Given the description of an element on the screen output the (x, y) to click on. 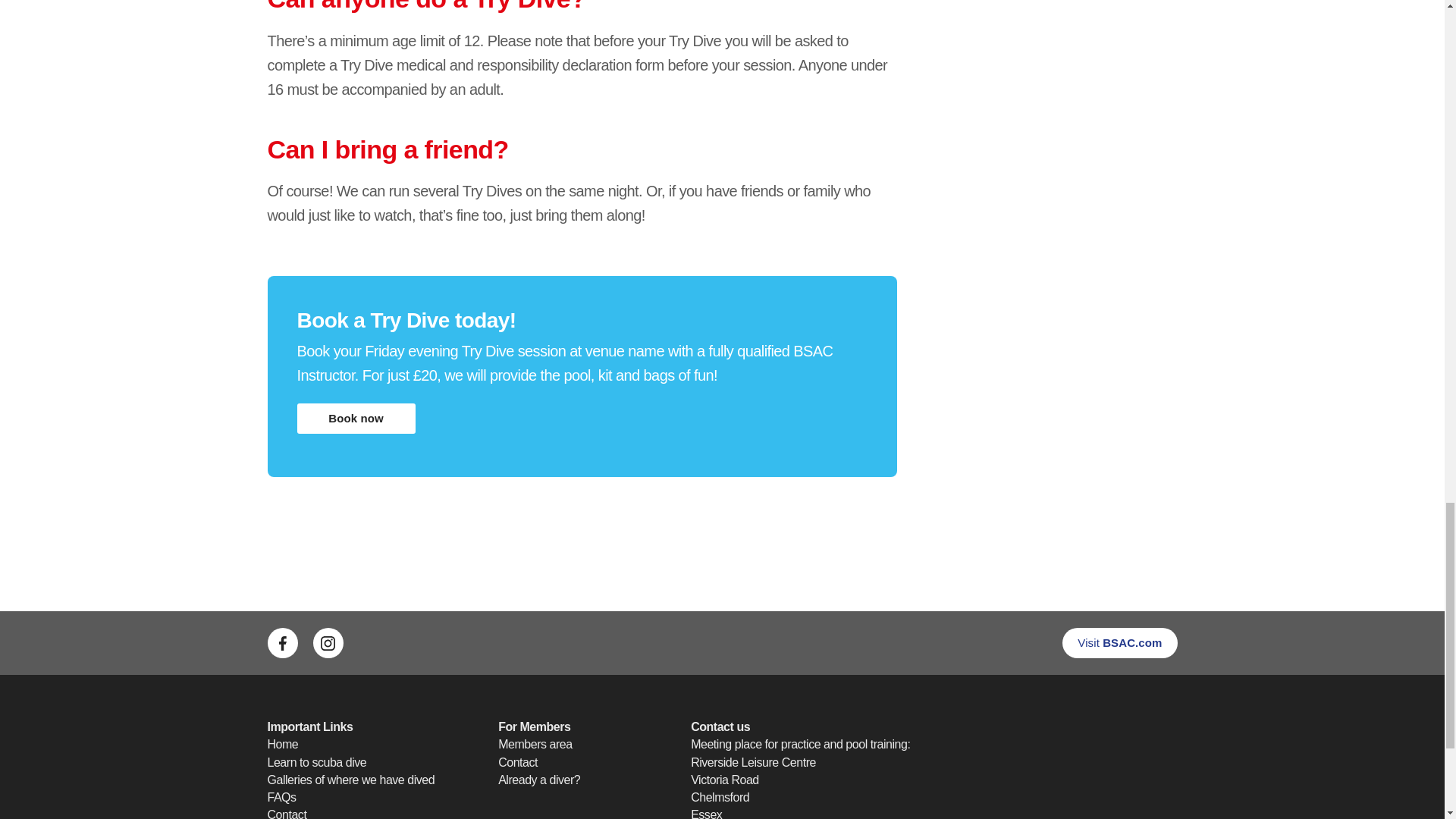
Book now (355, 418)
